Given the description of an element on the screen output the (x, y) to click on. 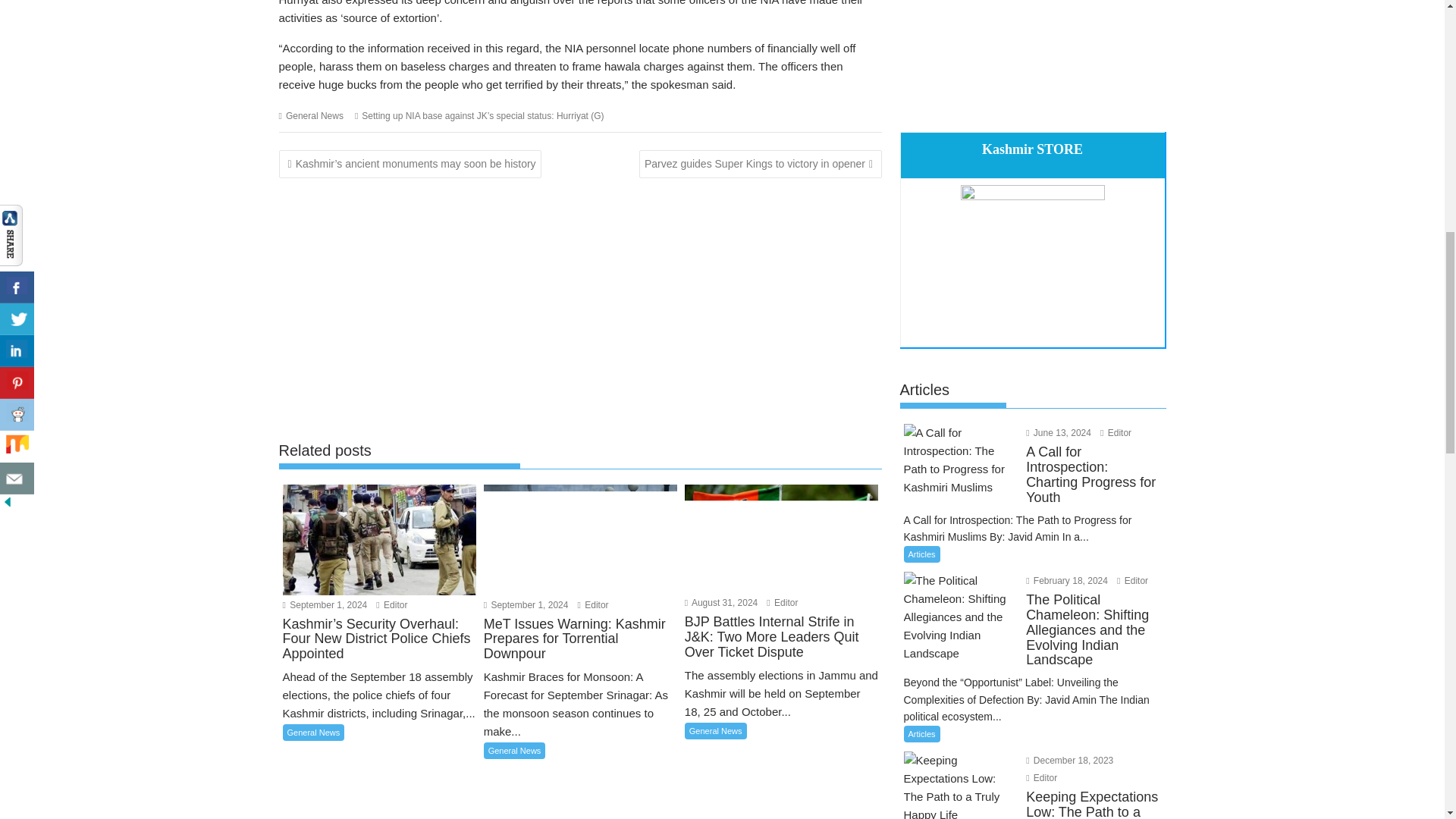
Editor (593, 604)
Editor (391, 604)
Advertisement (580, 308)
Editor (782, 602)
